Given the description of an element on the screen output the (x, y) to click on. 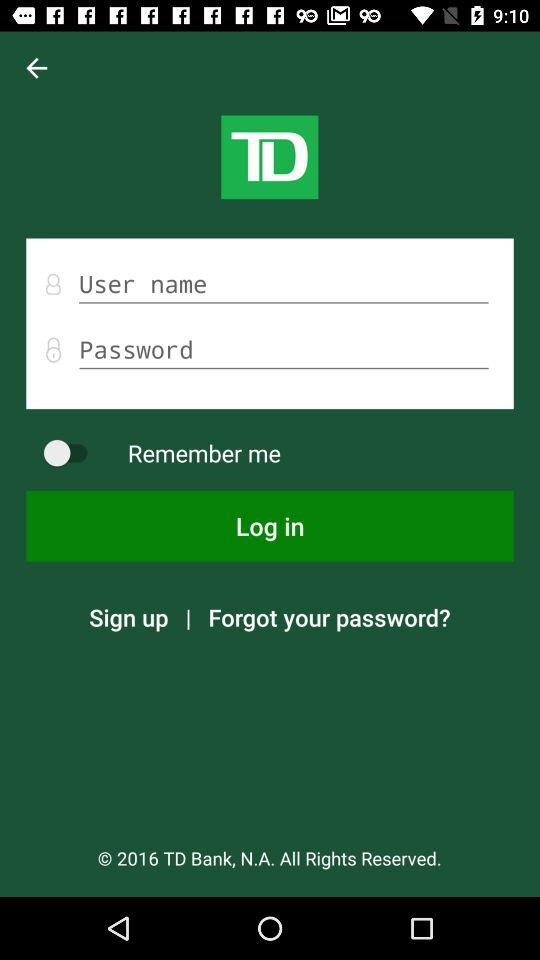
press the icon below the log in item (128, 617)
